Given the description of an element on the screen output the (x, y) to click on. 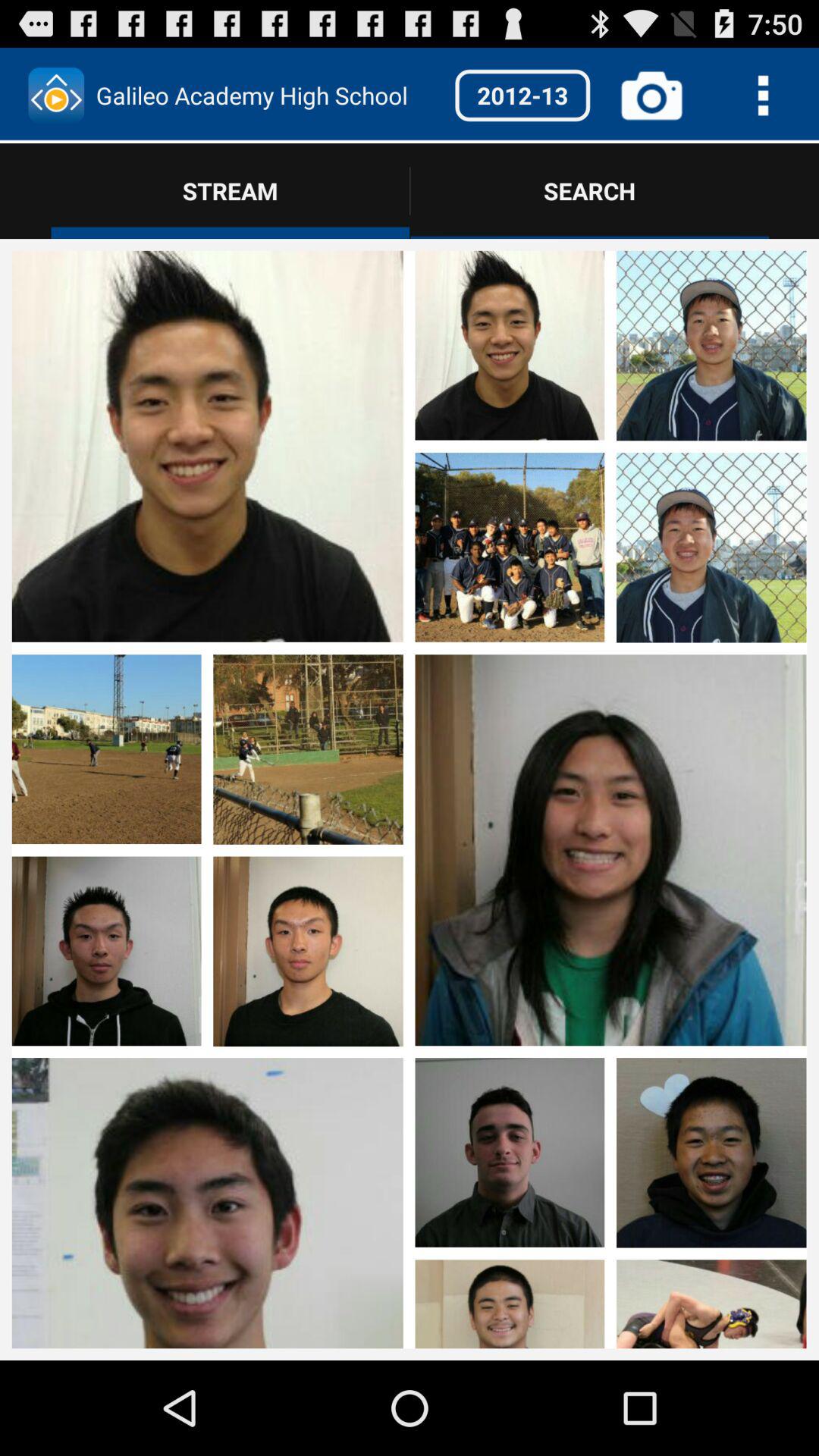
enlarge photo (711, 952)
